Given the description of an element on the screen output the (x, y) to click on. 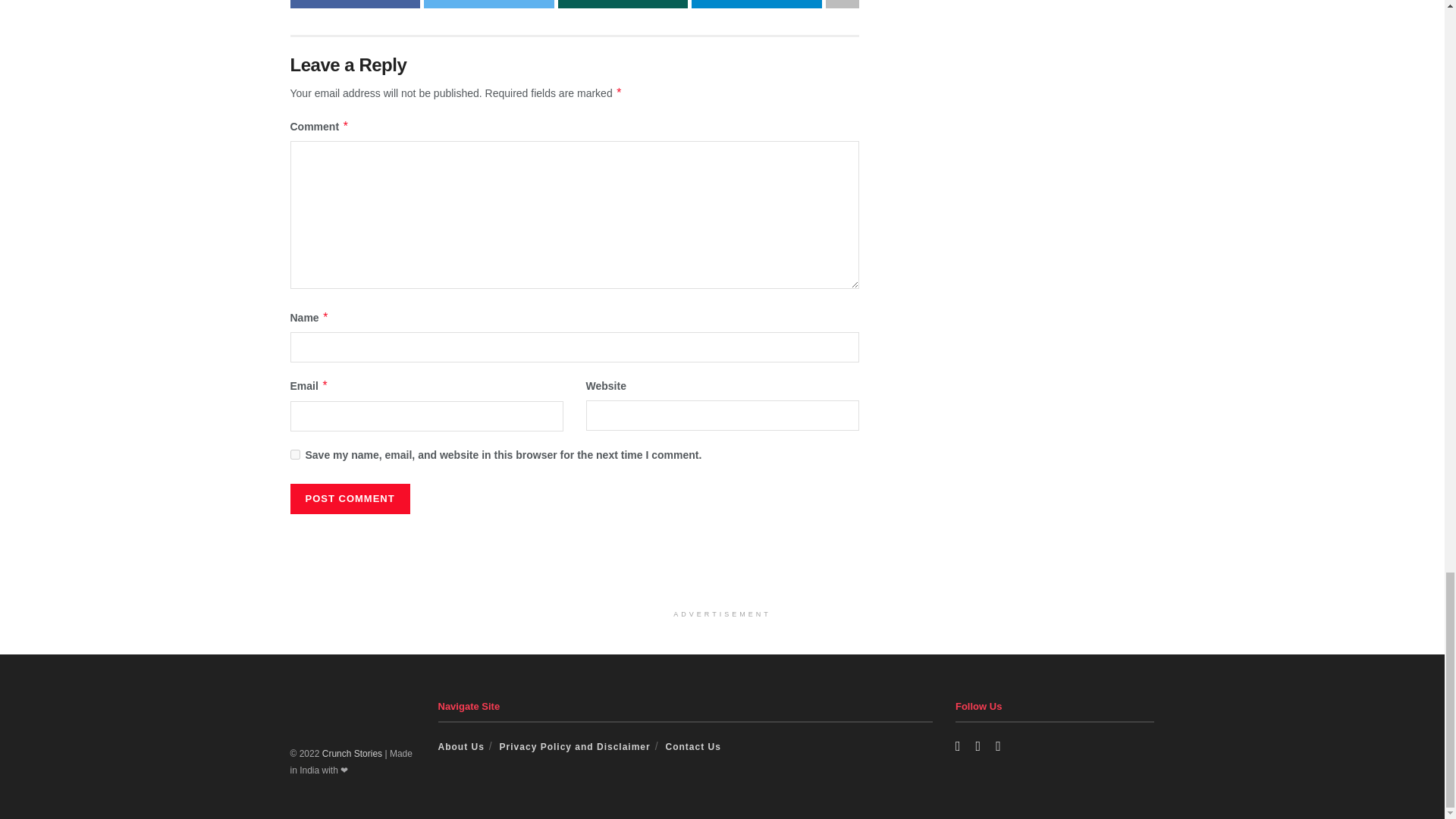
Crunch Stories (351, 753)
Post Comment (349, 499)
yes (294, 454)
